Given the description of an element on the screen output the (x, y) to click on. 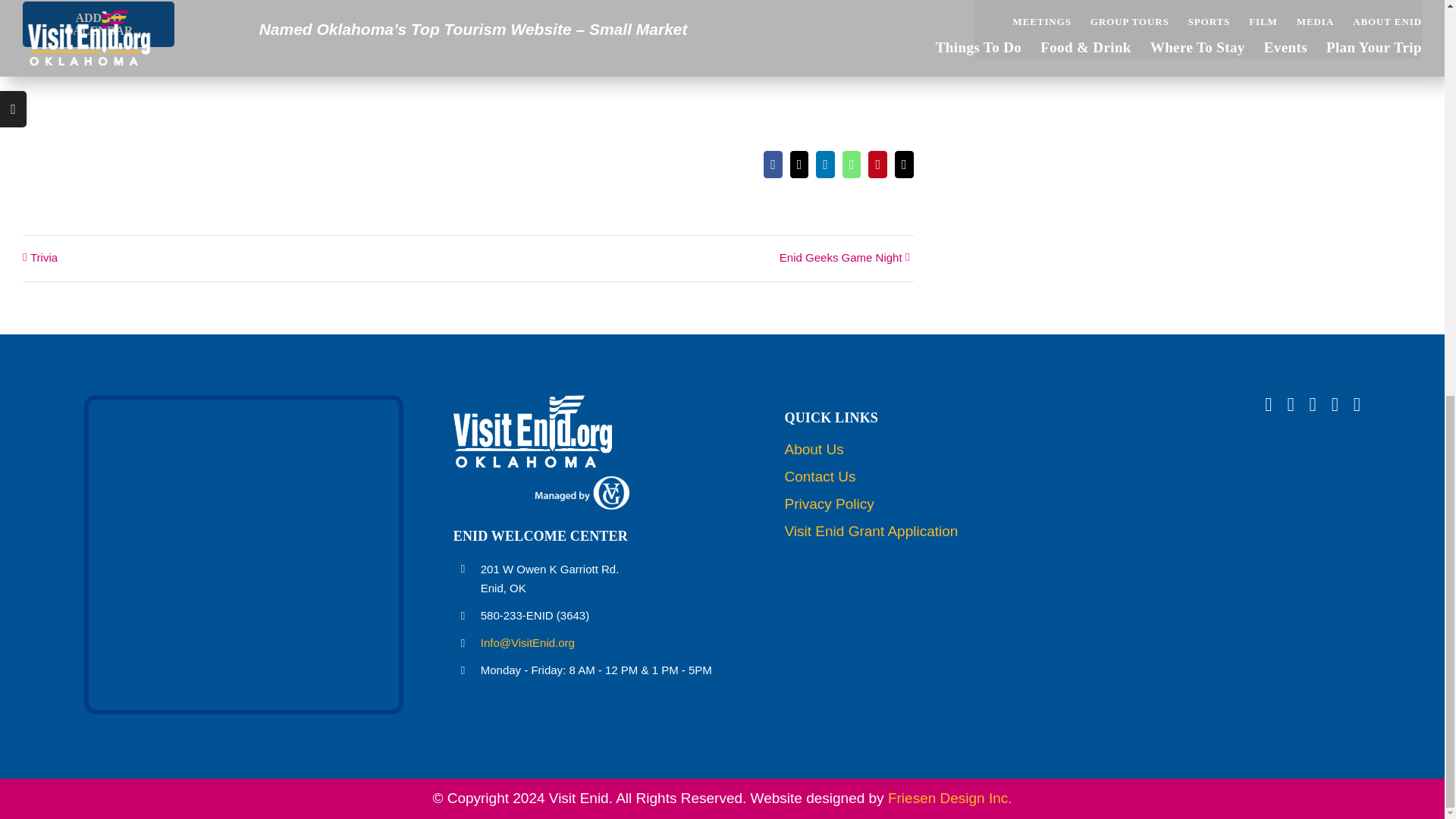
LinkedIn (824, 164)
X (799, 164)
Pinterest (876, 164)
Facebook (772, 164)
Email (904, 164)
WhatsApp (852, 164)
